Given the description of an element on the screen output the (x, y) to click on. 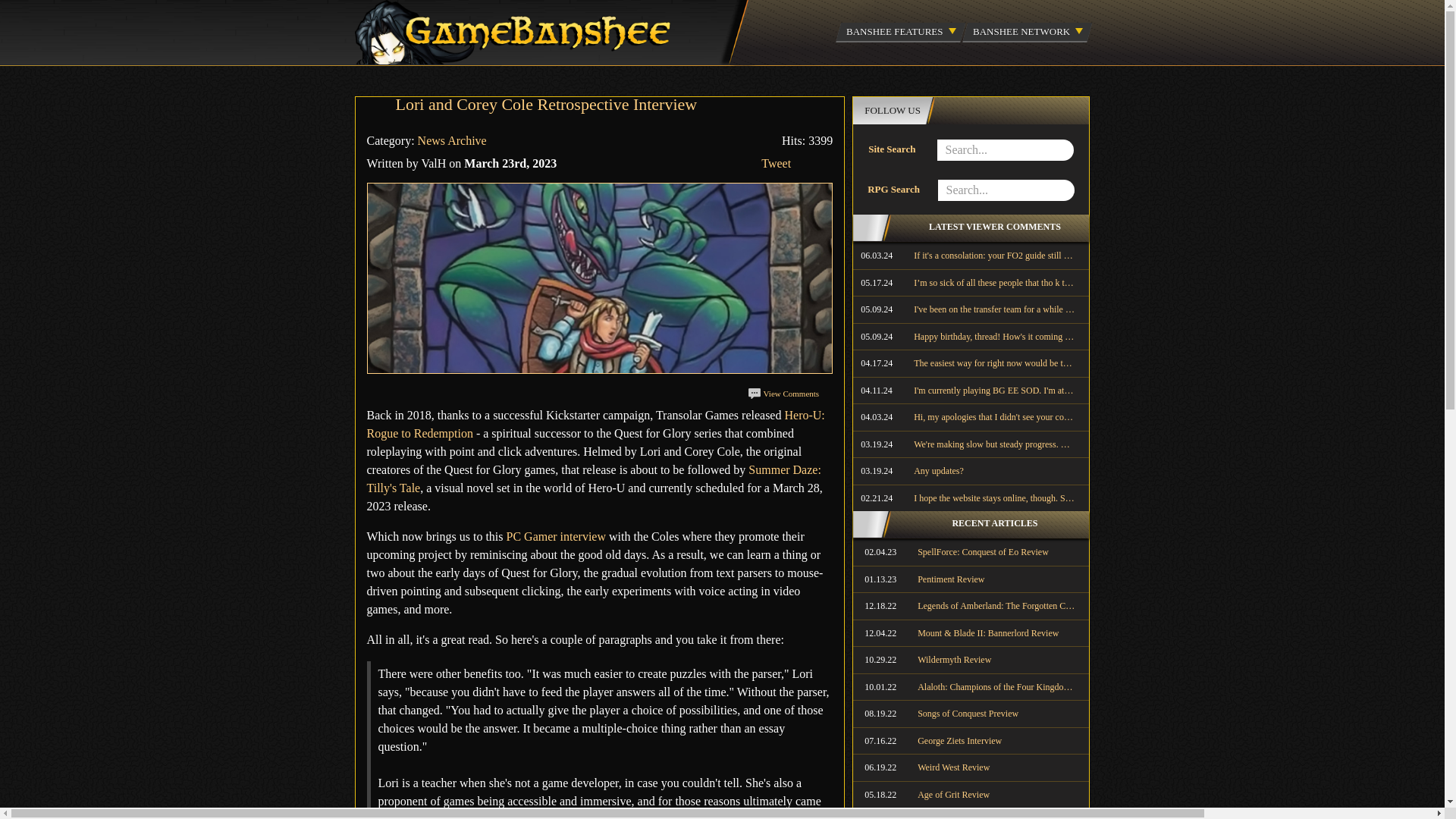
Wildermyth Review (970, 659)
Legends of Amberland: The Forgotten Crown Review (970, 605)
George Ziets Interview (970, 740)
Songs of Conquest Preview (970, 713)
Weird West Review (970, 766)
Alaloth: Champions of the Four Kingdoms Preview (970, 686)
SpellForce: Conquest of Eo Review (970, 551)
Age of Grit Review (970, 794)
Add a comment (783, 393)
Pentiment Review (970, 579)
